Given the description of an element on the screen output the (x, y) to click on. 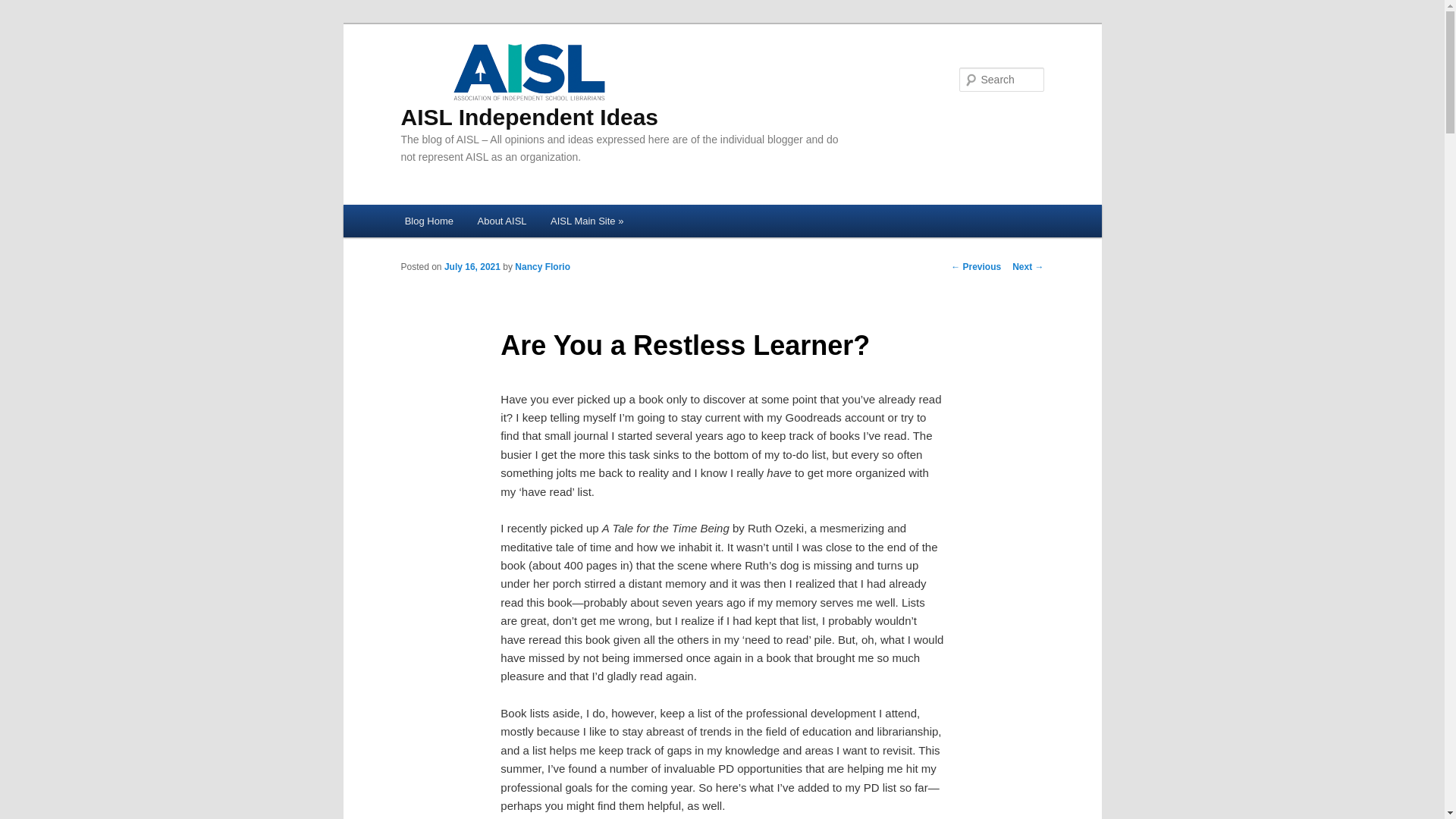
About AISL (501, 220)
Blog Home (429, 220)
AISL Independent Ideas (529, 84)
12:28 am (472, 266)
Search (24, 8)
View all posts by Nancy Florio (542, 266)
Nancy Florio (542, 266)
July 16, 2021 (472, 266)
